Given the description of an element on the screen output the (x, y) to click on. 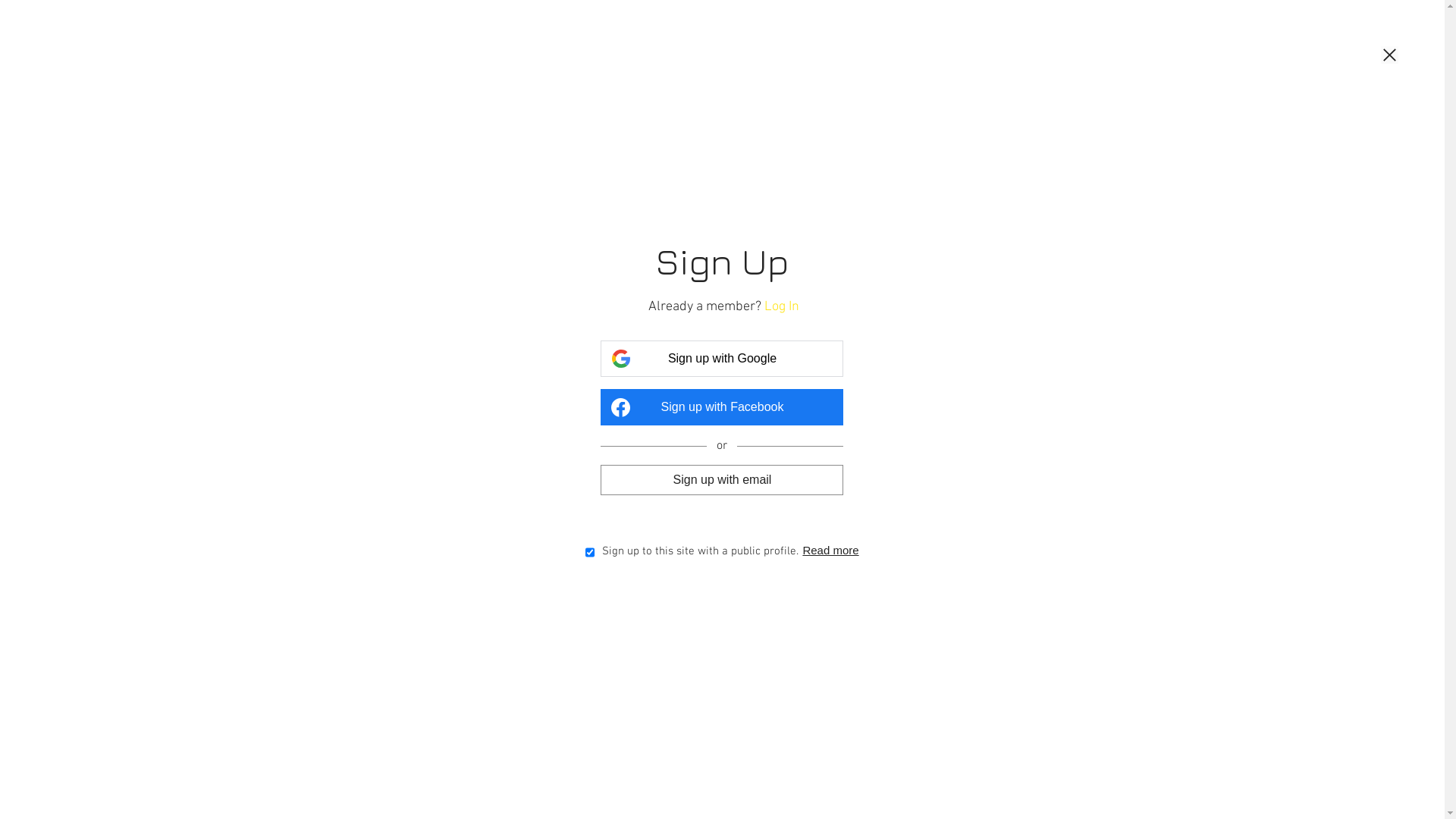
Log In Element type: text (781, 306)
Sign up with Google Element type: text (721, 358)
Read more Element type: text (830, 549)
Sign up with Facebook Element type: text (721, 407)
Sign up with email Element type: text (721, 479)
